Given the description of an element on the screen output the (x, y) to click on. 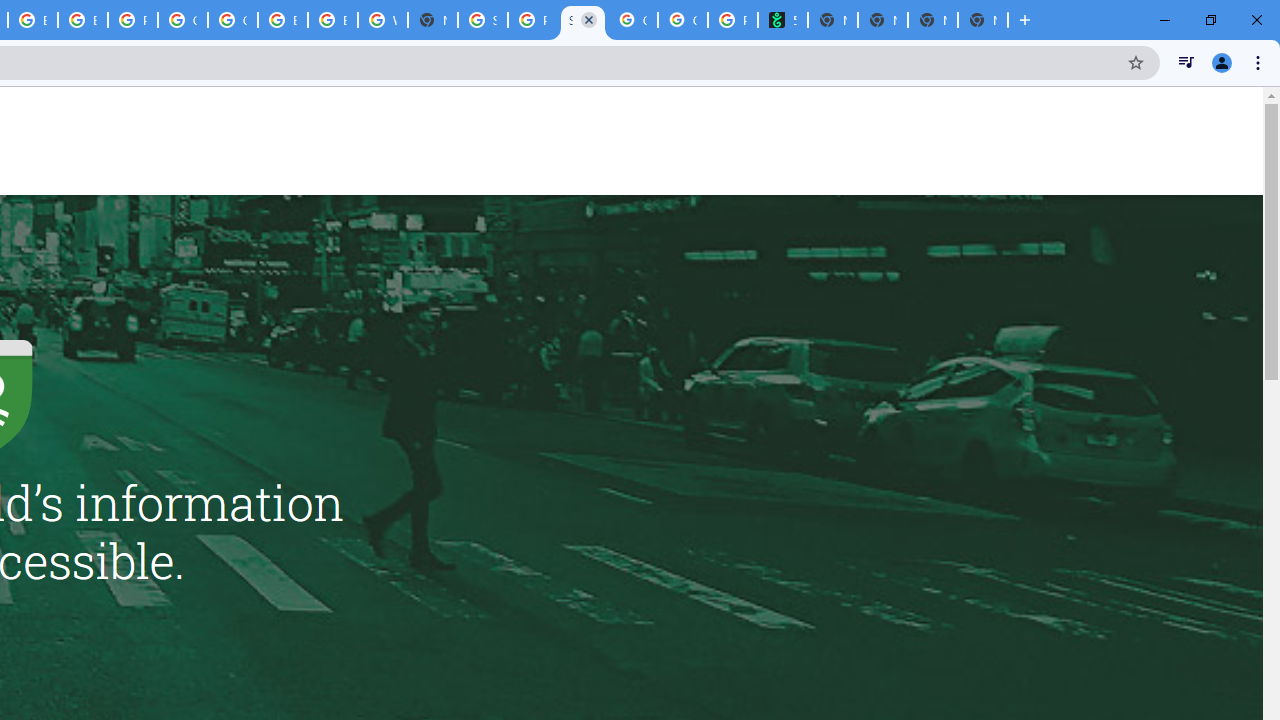
New Tab (982, 20)
New Tab (433, 20)
